Given the description of an element on the screen output the (x, y) to click on. 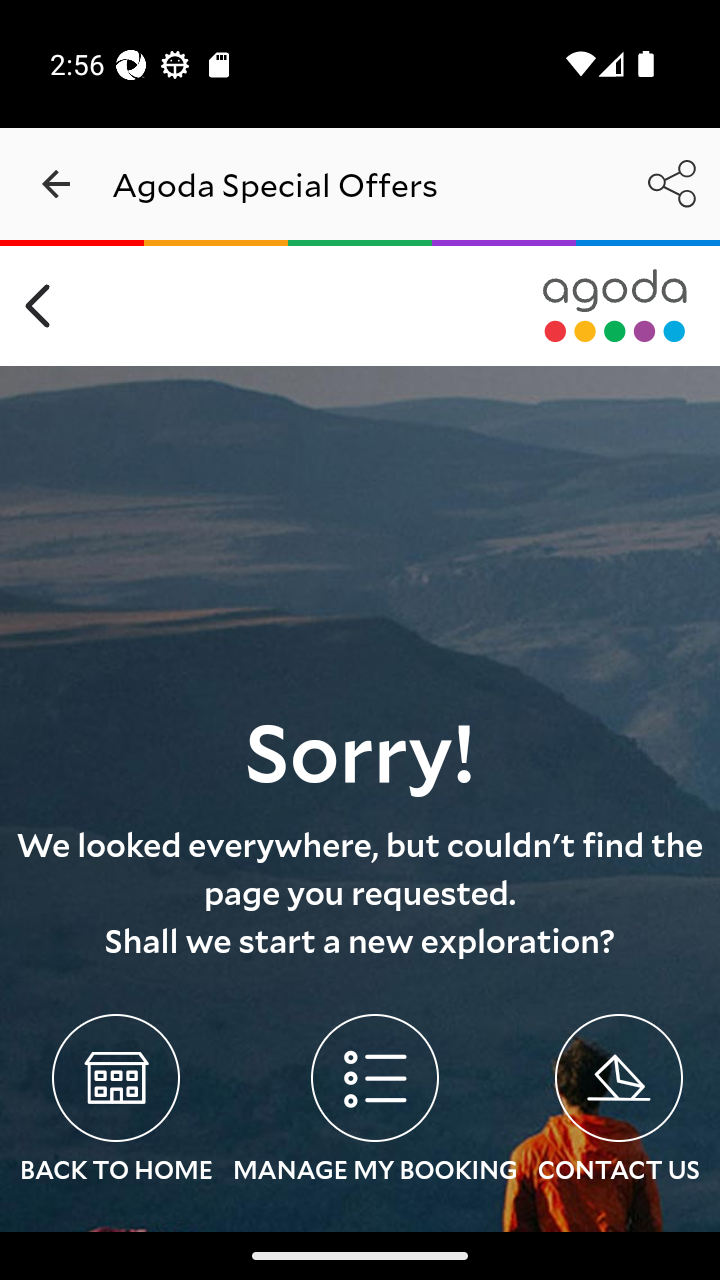
navigation_button (56, 184)
Share (672, 183)
color-default (615, 305)
 BACK TO HOME  BACK TO HOME (115, 1101)
 MANAGE MY BOOKING  MANAGE MY BOOKING (374, 1101)
 CONTACT US  CONTACT US (618, 1101)
